Given the description of an element on the screen output the (x, y) to click on. 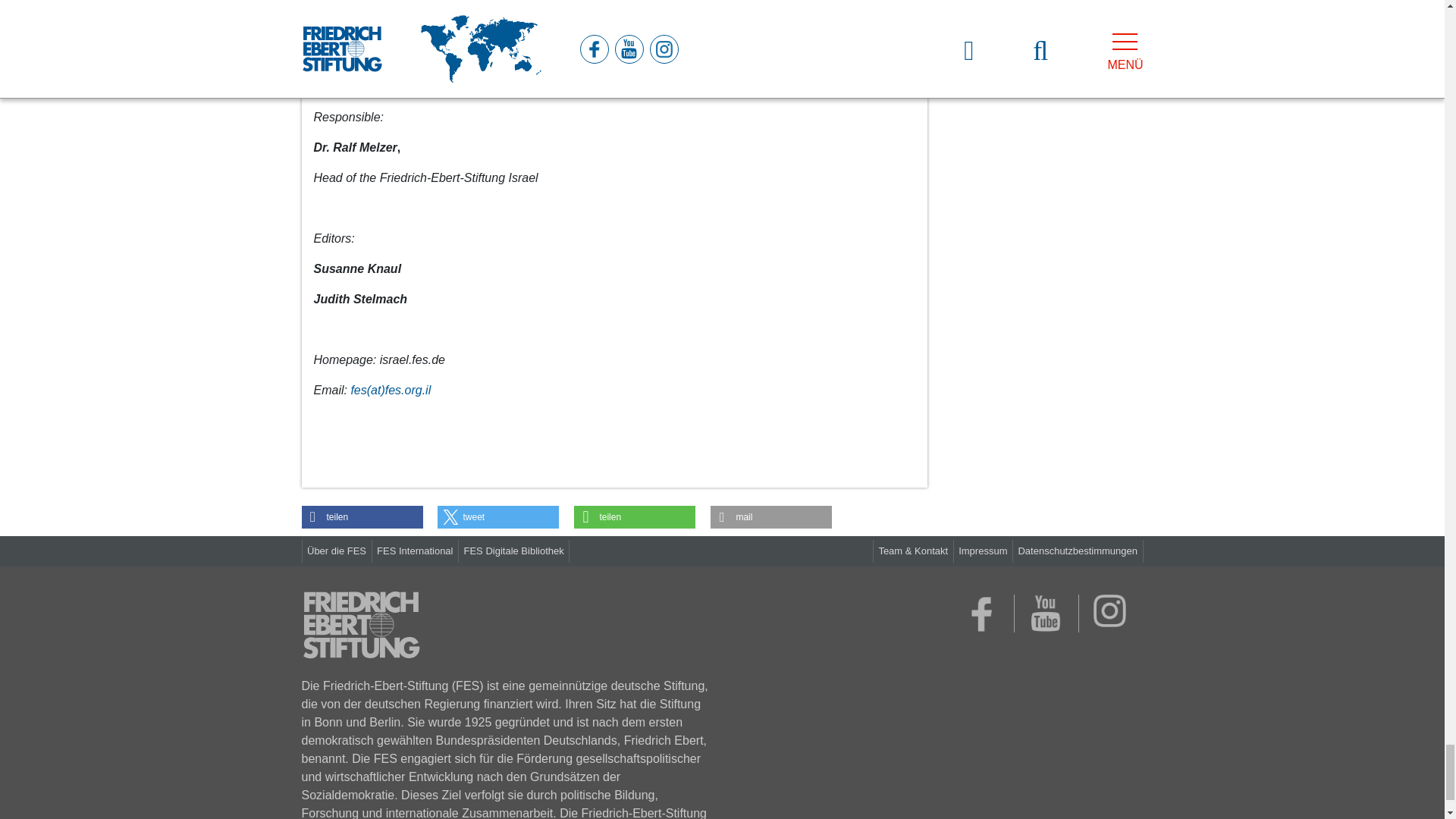
Bei Facebook teilen (362, 517)
Bei Whatsapp teilen (634, 517)
Per E-Mail versenden (770, 517)
Bei Twitter teilen (498, 517)
